Given the description of an element on the screen output the (x, y) to click on. 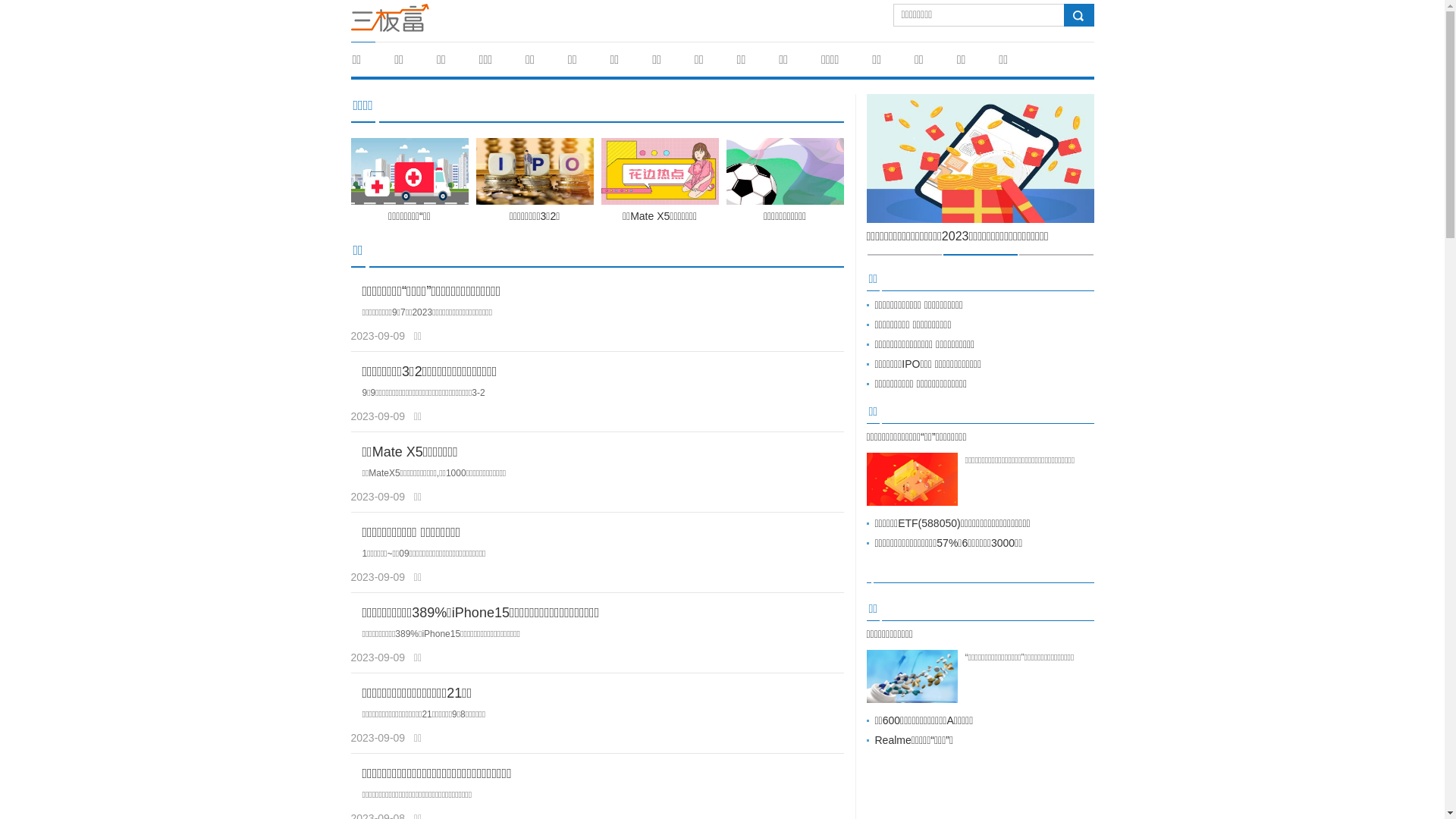
  Element type: text (1077, 15)
